Given the description of an element on the screen output the (x, y) to click on. 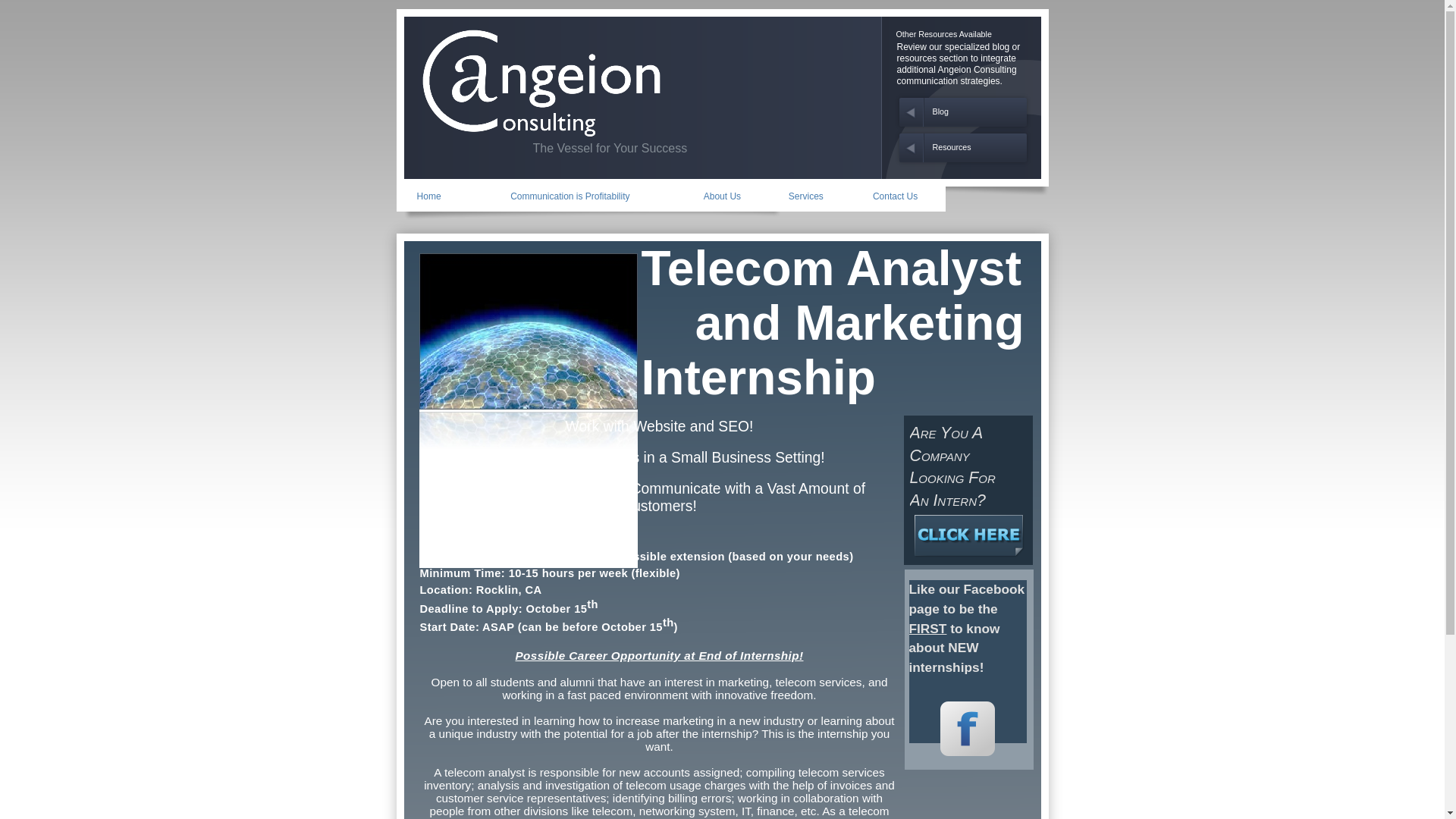
Home (429, 196)
Are You A Company Looking For (952, 455)
Services (806, 196)
Communication is Profitability (569, 196)
Resources (952, 146)
Blog (941, 111)
An Intern? (947, 500)
Contact Us (895, 196)
About Us (721, 196)
